Given the description of an element on the screen output the (x, y) to click on. 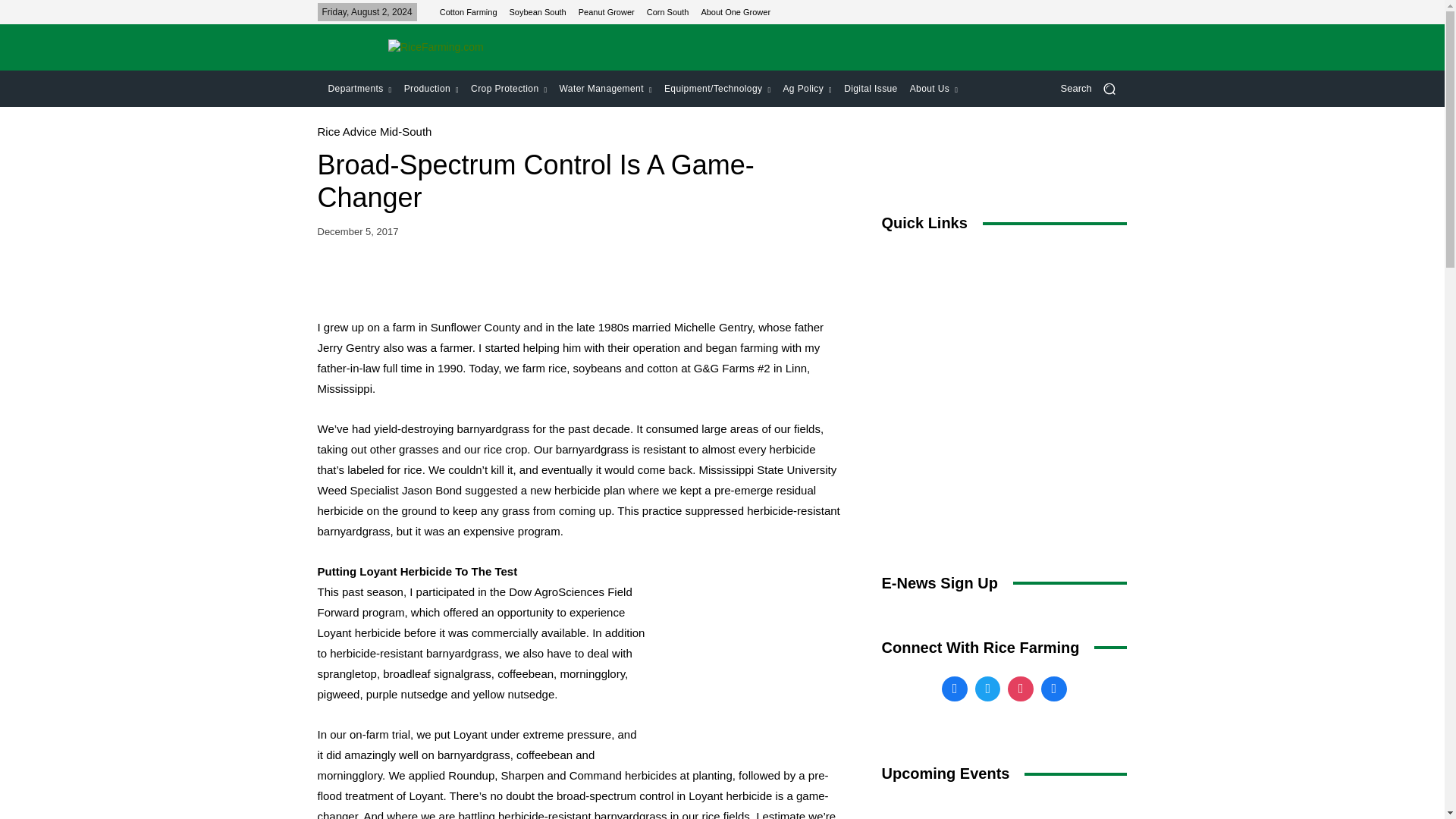
Rice Farming Header Logo (435, 47)
Departments (359, 88)
Peanut Grower (606, 11)
Corn South (667, 11)
Soybean South (537, 11)
Production (430, 88)
Cotton Farming (468, 11)
About One Grower (735, 11)
